Given the description of an element on the screen output the (x, y) to click on. 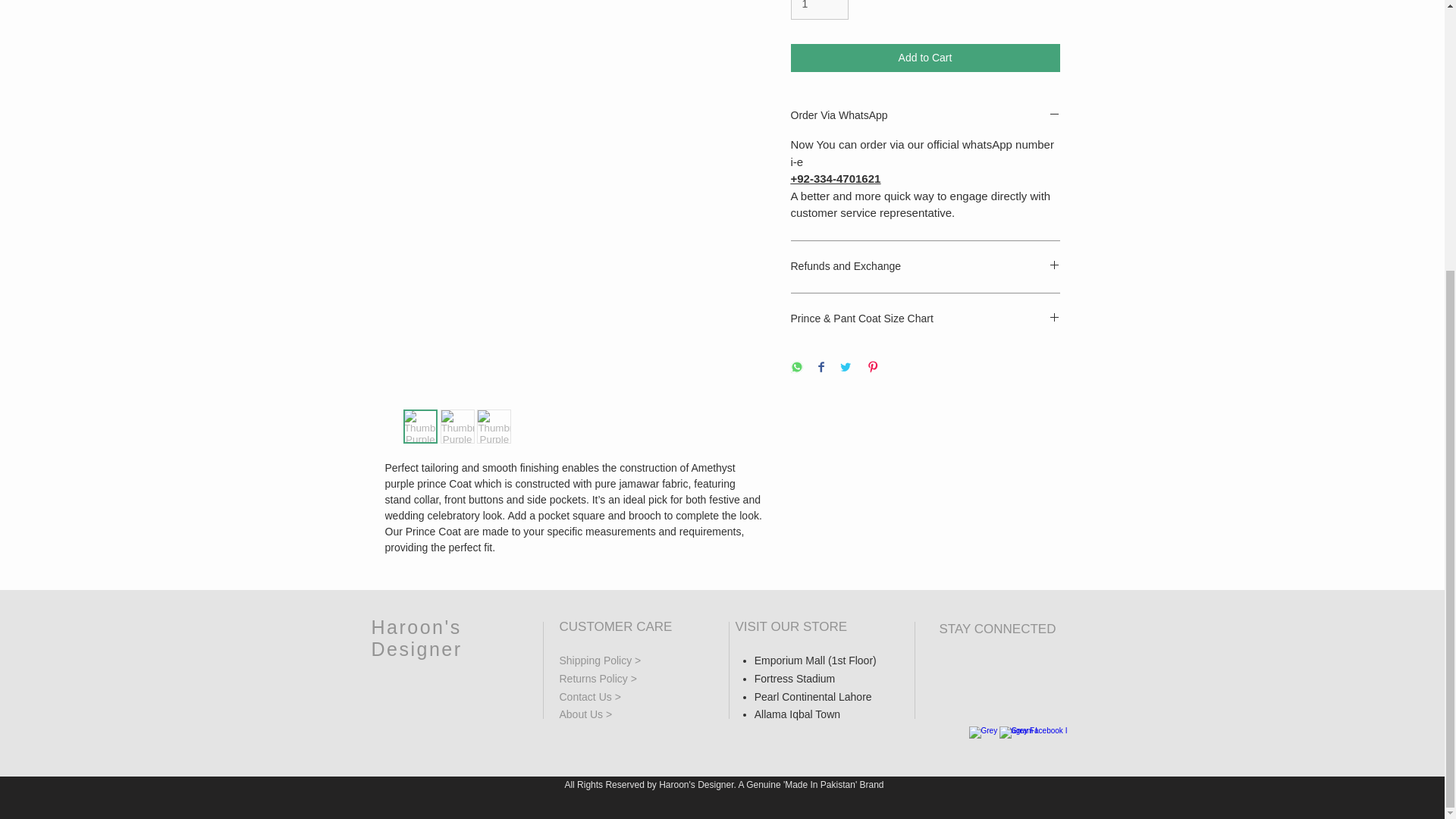
Refunds and Exchange (924, 267)
1 (818, 9)
Add to Cart (924, 58)
Order Via WhatsApp (924, 116)
